Given the description of an element on the screen output the (x, y) to click on. 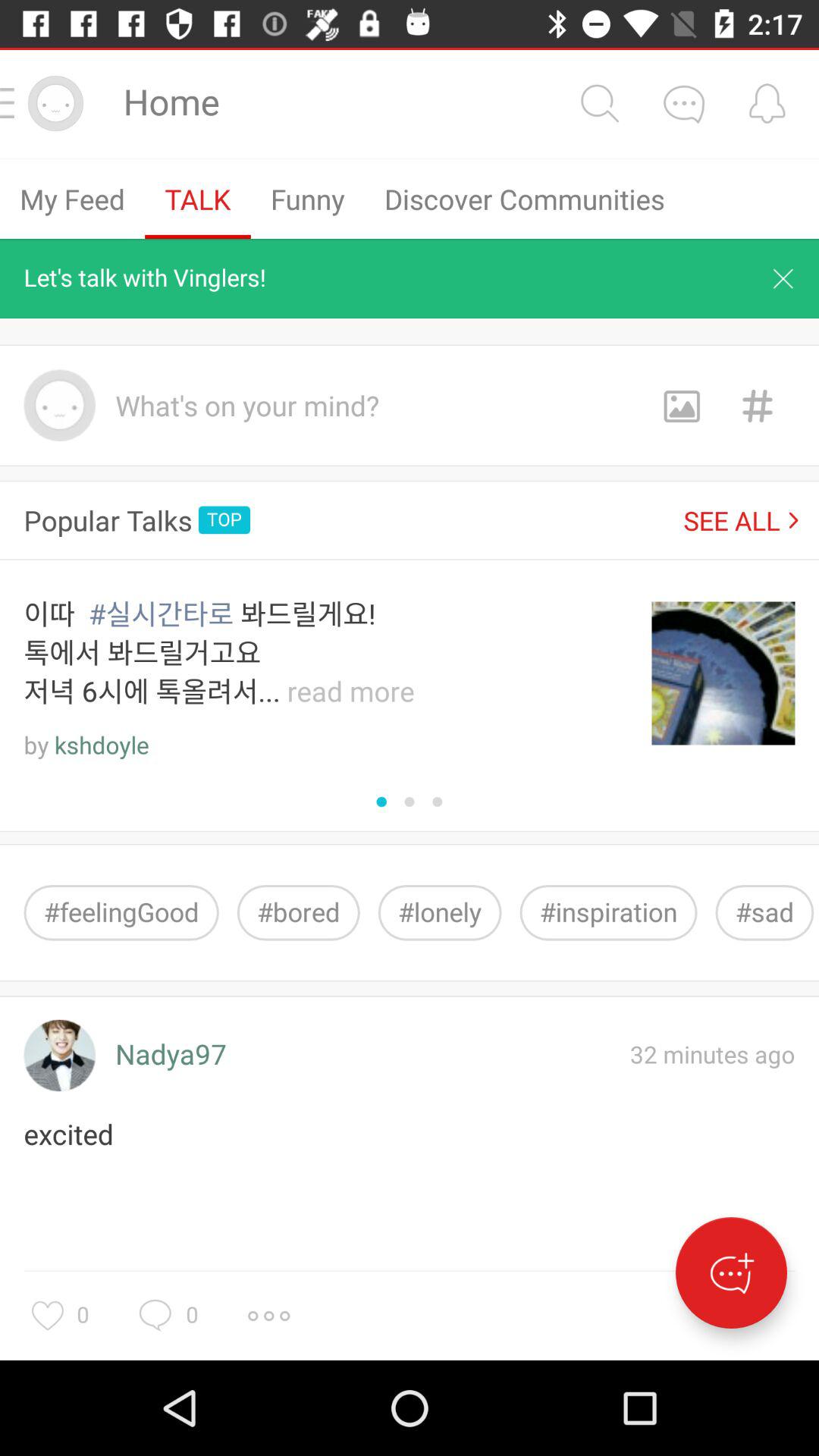
start a new chat (731, 1272)
